Given the description of an element on the screen output the (x, y) to click on. 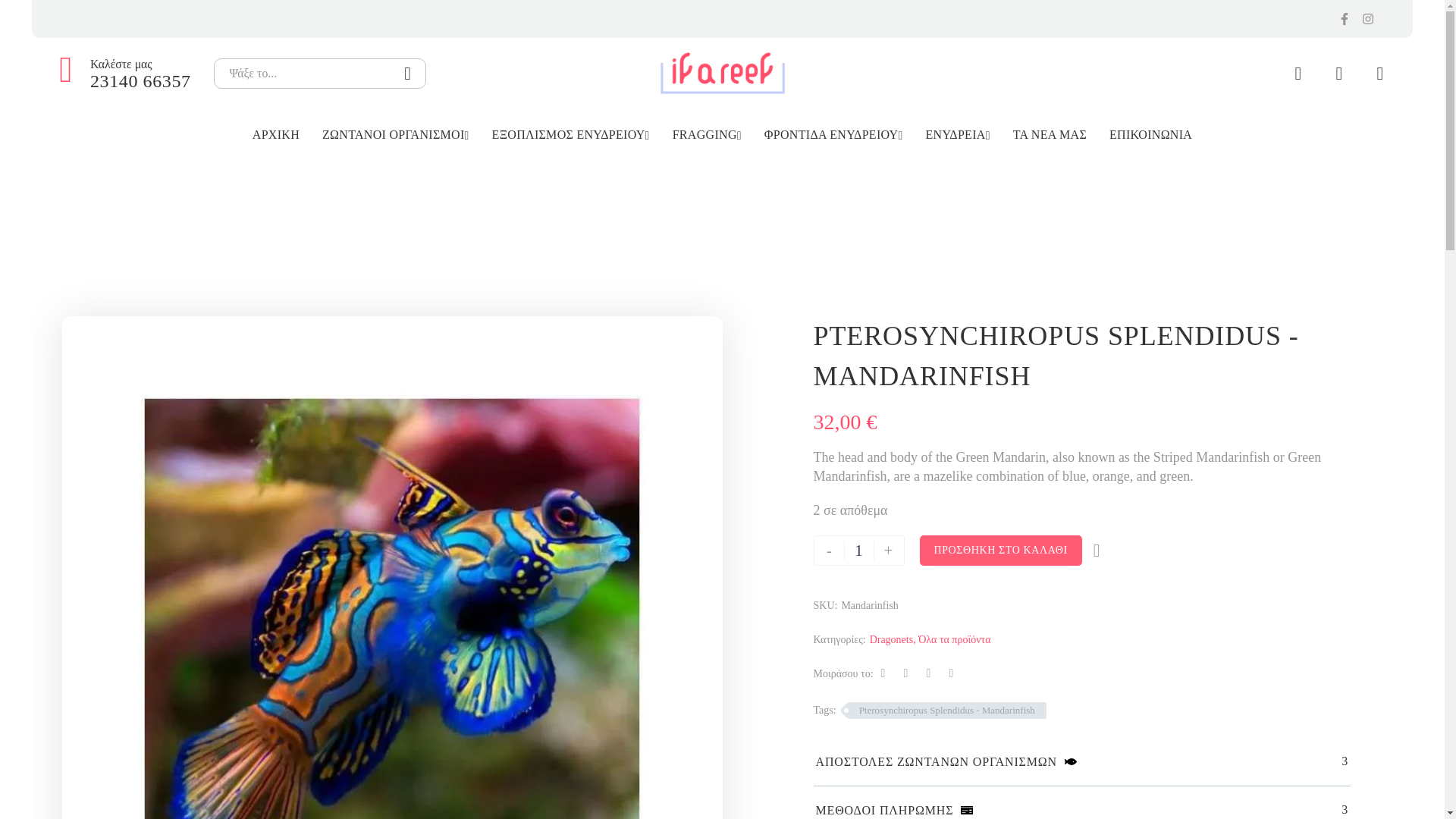
Facebook (883, 673)
Twitter (906, 673)
Tumblr (951, 673)
Pinterest (928, 673)
1 (858, 550)
